Given the description of an element on the screen output the (x, y) to click on. 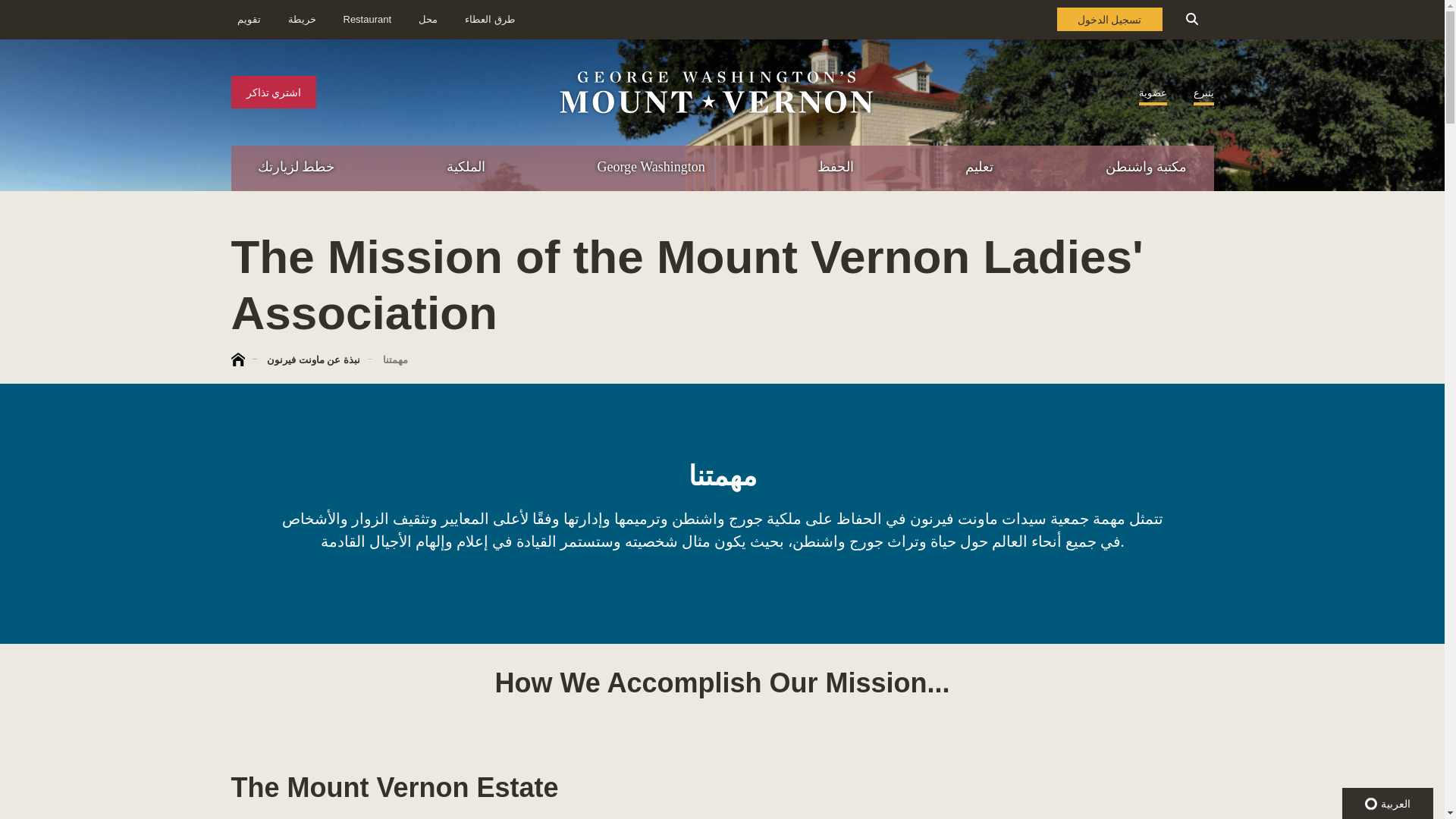
Restaurant (366, 19)
Restaurant (428, 19)
SUPPORT (1283, 263)
RESTAURANT (1377, 232)
